Given the description of an element on the screen output the (x, y) to click on. 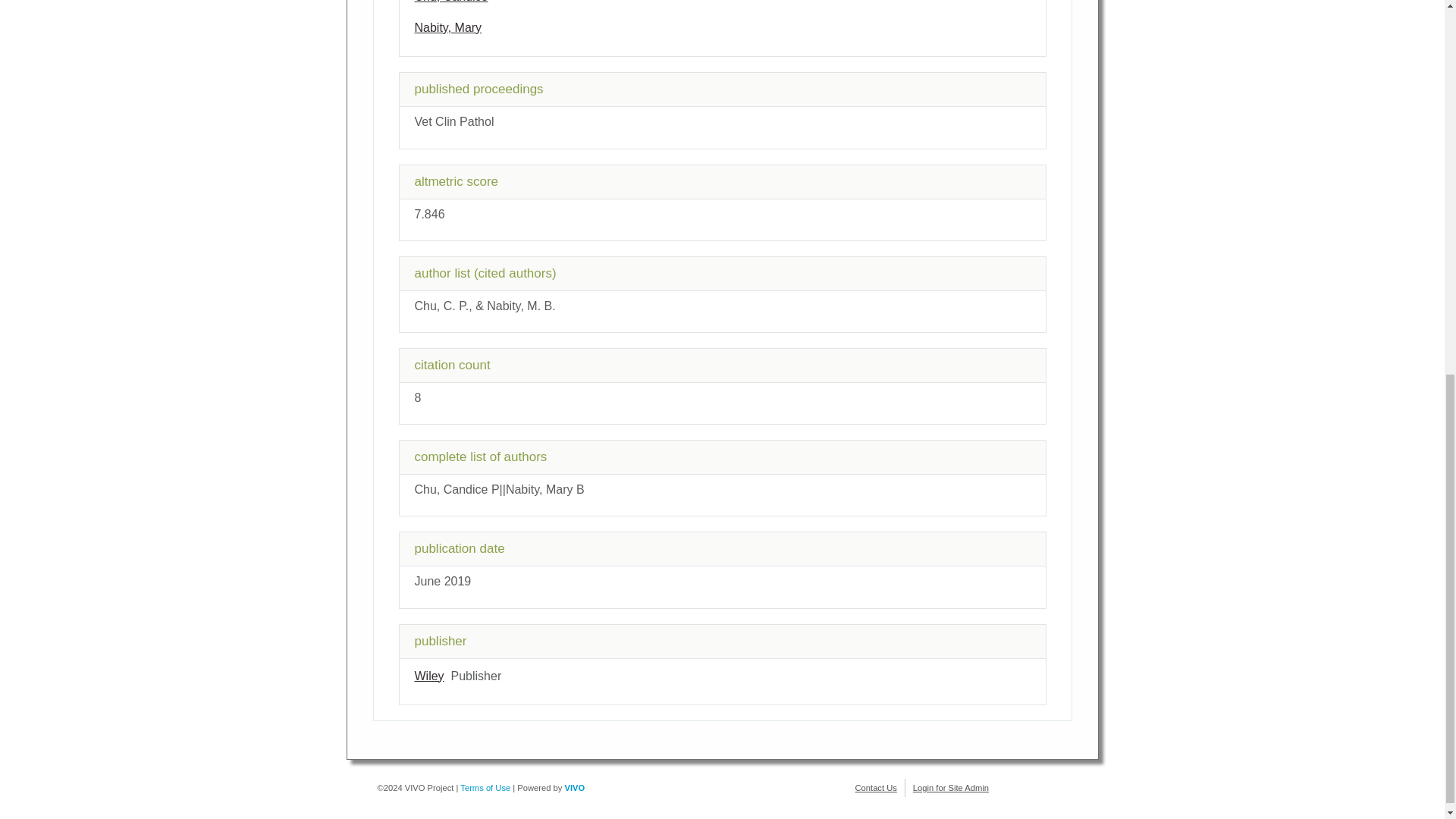
Terms of Use (485, 787)
author name (447, 27)
Login for Site Admin (950, 787)
Nabity, Mary (447, 27)
Wiley (428, 675)
VIVO (574, 787)
name (428, 675)
Contact Us (876, 787)
Chu, Candice (450, 1)
author name (450, 1)
